Given the description of an element on the screen output the (x, y) to click on. 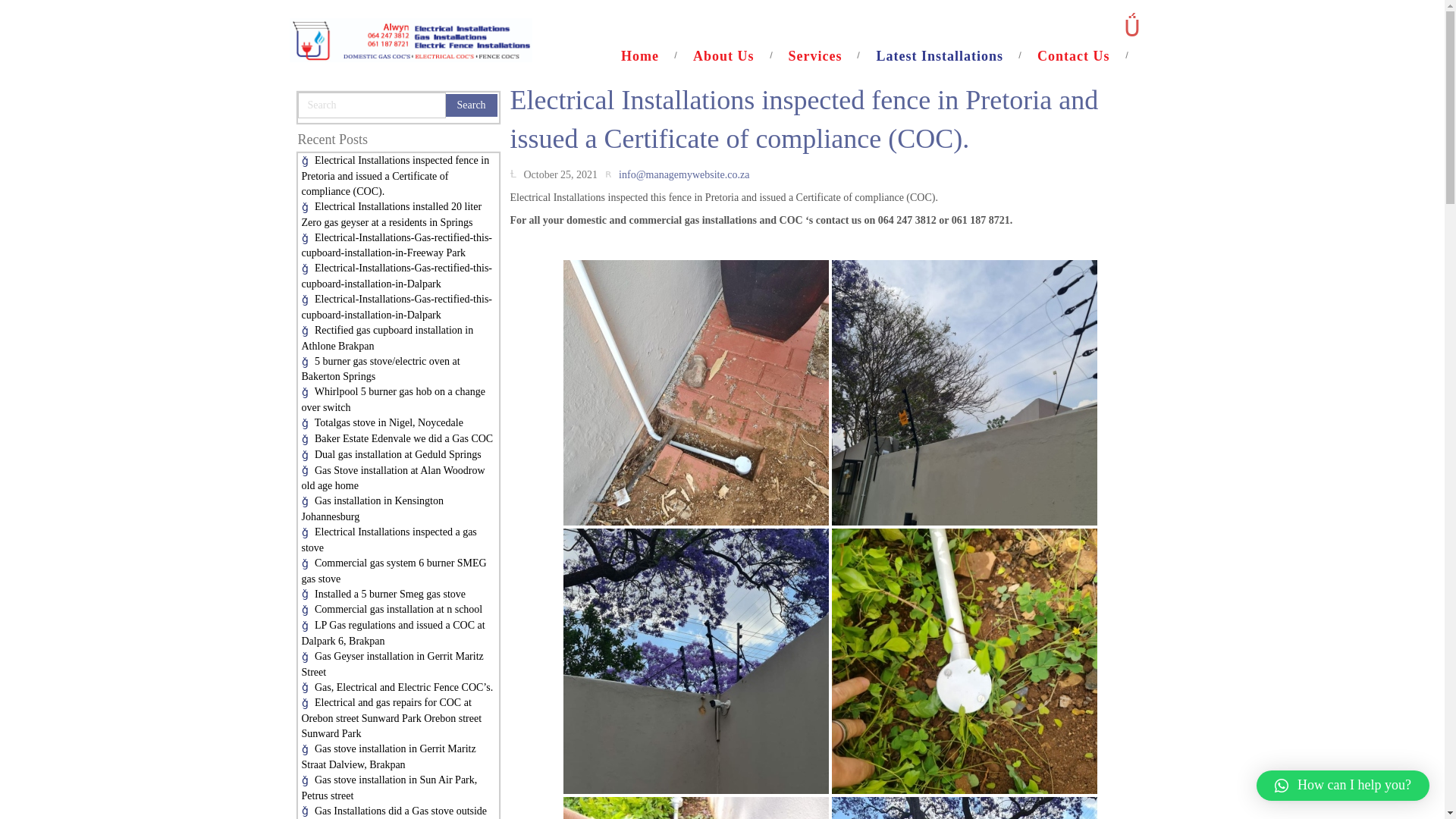
Search (471, 105)
Home (649, 56)
About Us (732, 56)
LP Gas regulations and issued a COC at Dalpark 6, Brakpan (392, 633)
Gas Stove installation at Alan Woodrow old age home (392, 478)
Rectified gas cupboard installation in Athlone Brakpan (387, 338)
Latest Installations (949, 56)
Whirlpool 5 burner gas hob on a change over switch (392, 399)
Services (824, 56)
Gas installation in Kensington Johannesburg (372, 508)
Electrical-Installations-inspected-fence-in-Pretoria0006 (964, 660)
Electrical-Installations-inspected-fence-in-Pretoria0004 (695, 807)
